Given the description of an element on the screen output the (x, y) to click on. 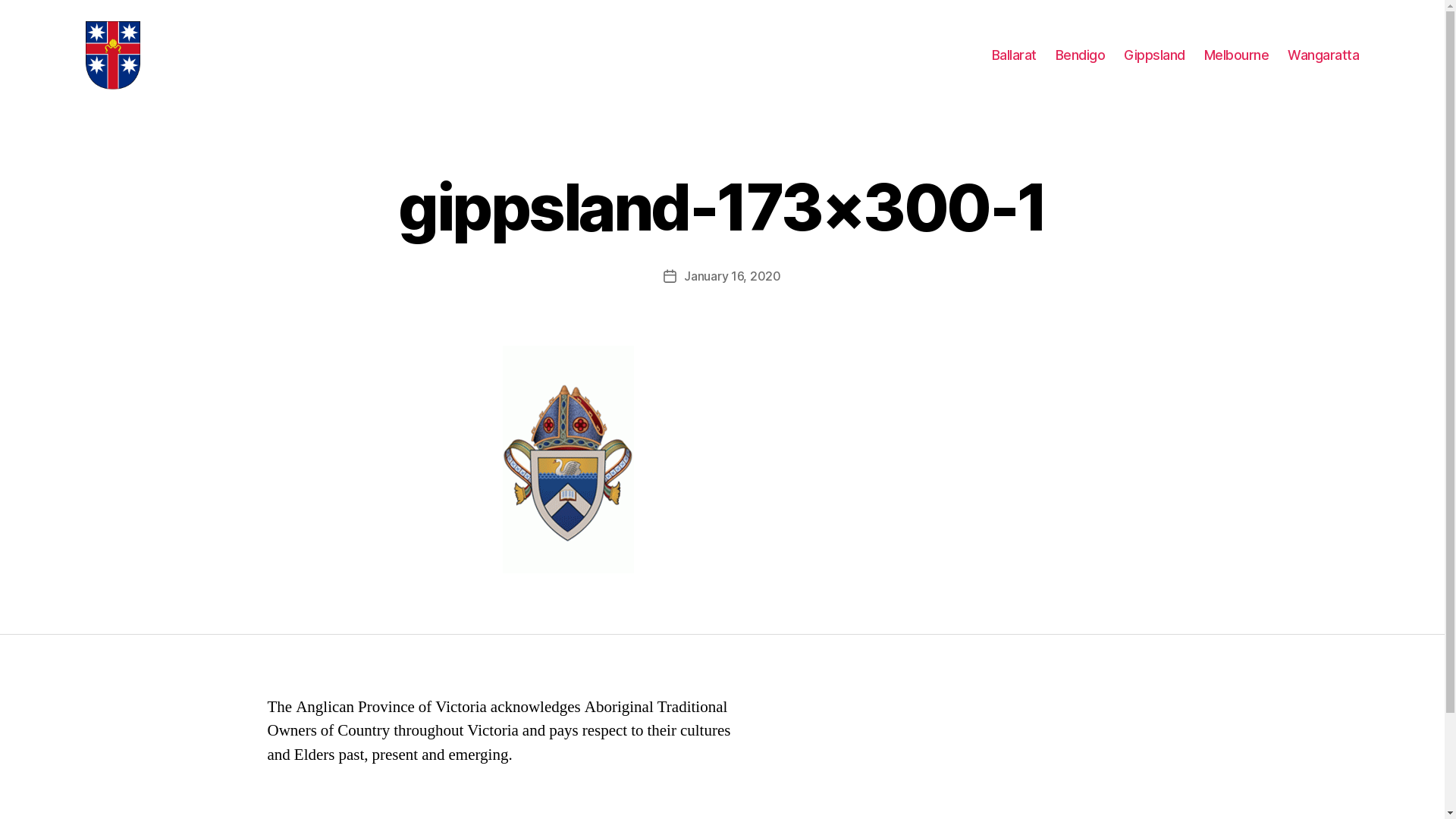
Wangaratta Element type: text (1322, 55)
Melbourne Element type: text (1236, 55)
Bendigo Element type: text (1080, 55)
Ballarat Element type: text (1013, 55)
Gippsland Element type: text (1154, 55)
January 16, 2020 Element type: text (732, 275)
